Given the description of an element on the screen output the (x, y) to click on. 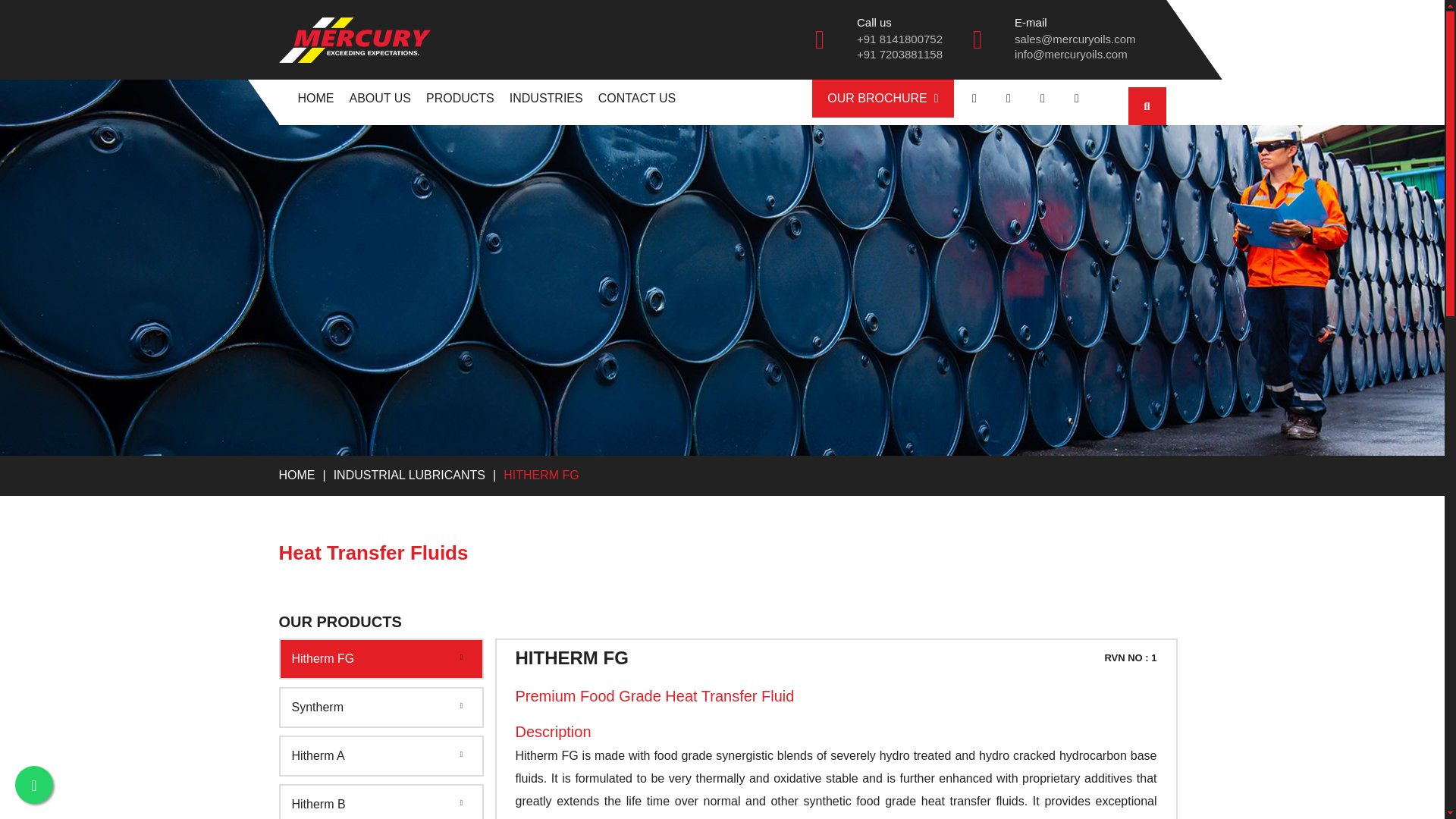
HOME (315, 98)
PRODUCTS (460, 98)
INDUSTRIES (546, 98)
CONTACT US (637, 98)
OUR BROCHURE   (882, 98)
ABOUT US (379, 98)
